Given the description of an element on the screen output the (x, y) to click on. 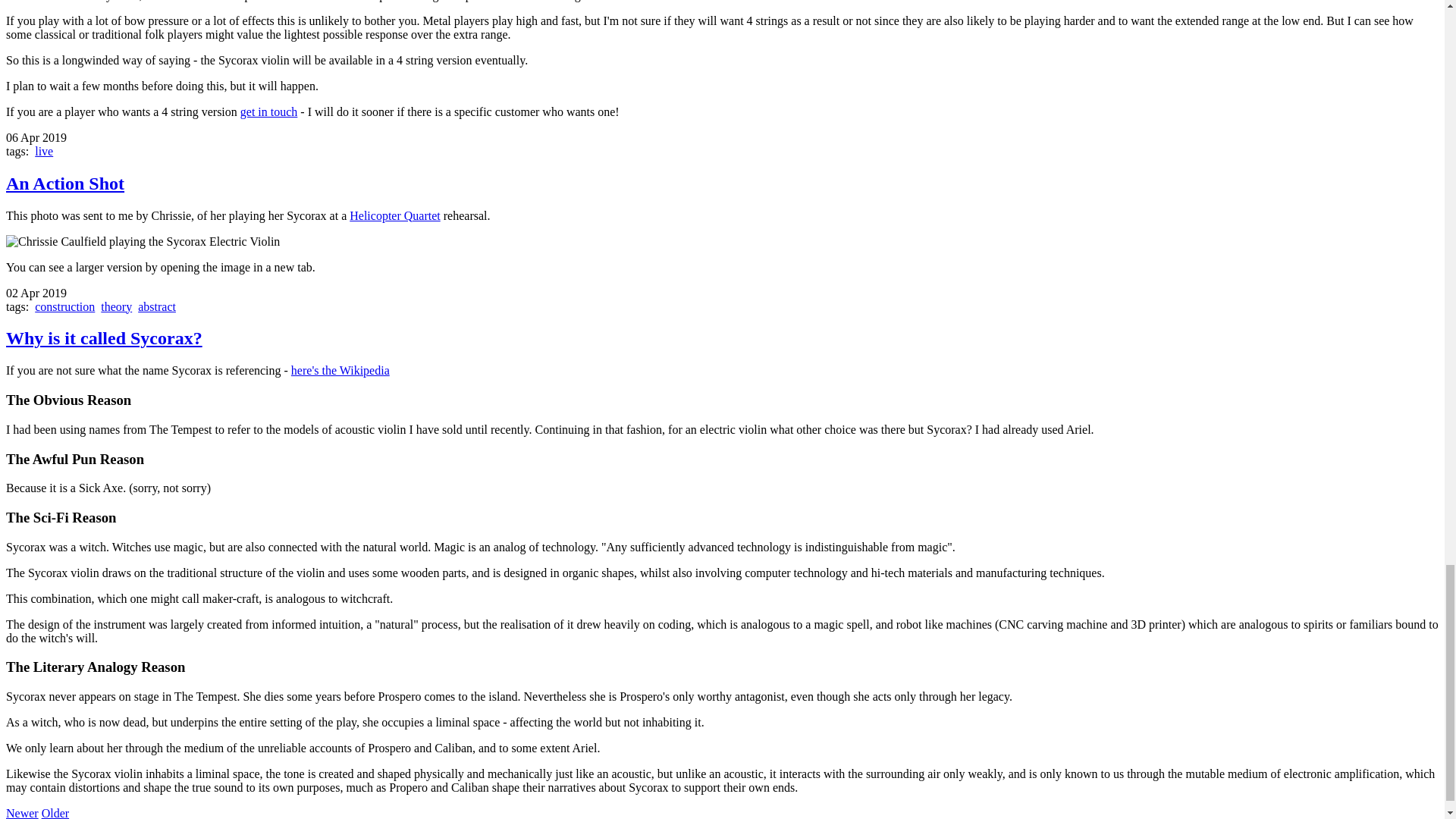
Chrissie Caulfield playing her Sycorax Electric Violin (142, 241)
